Given the description of an element on the screen output the (x, y) to click on. 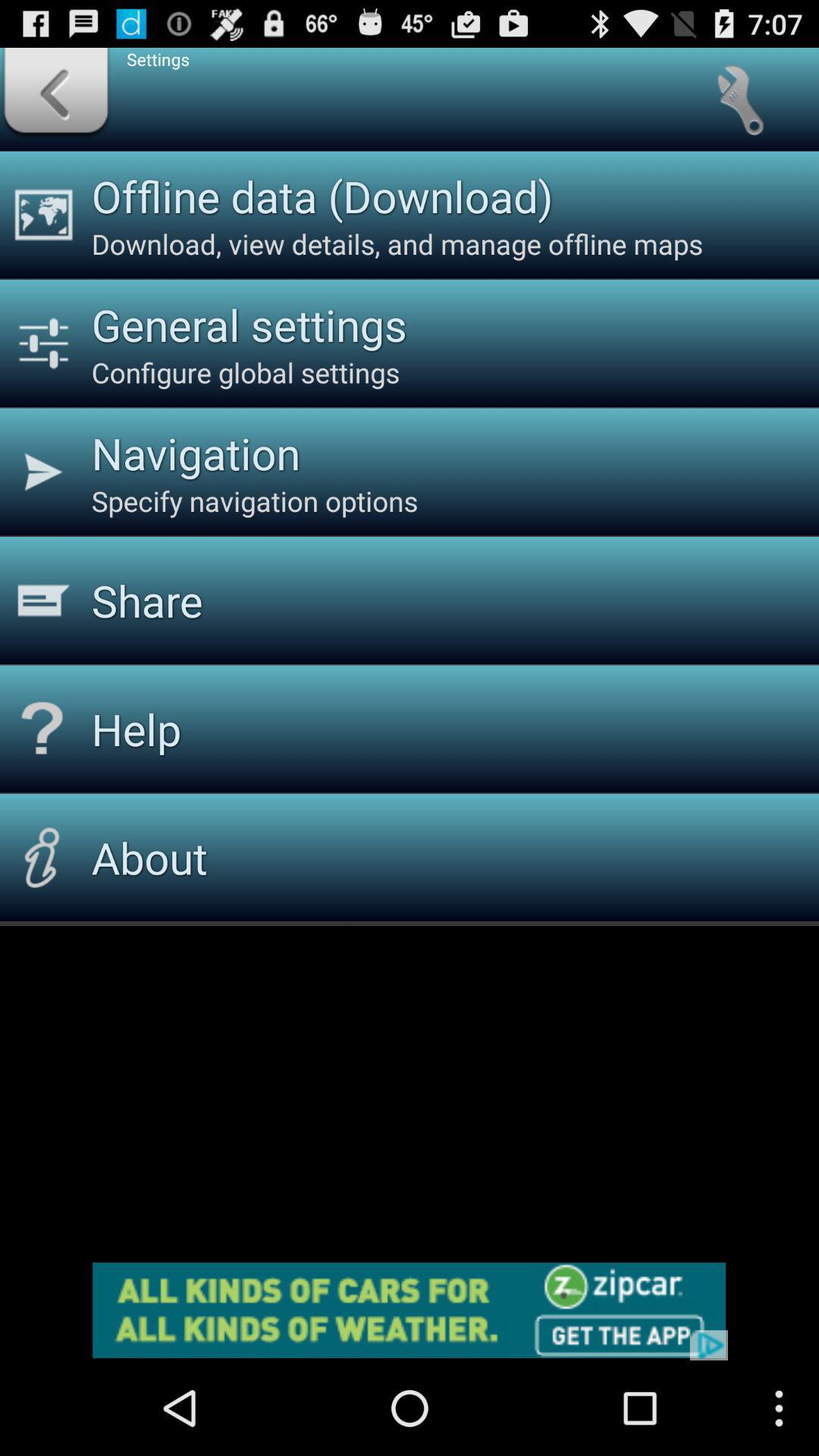
view advertisement bar (409, 1310)
